Given the description of an element on the screen output the (x, y) to click on. 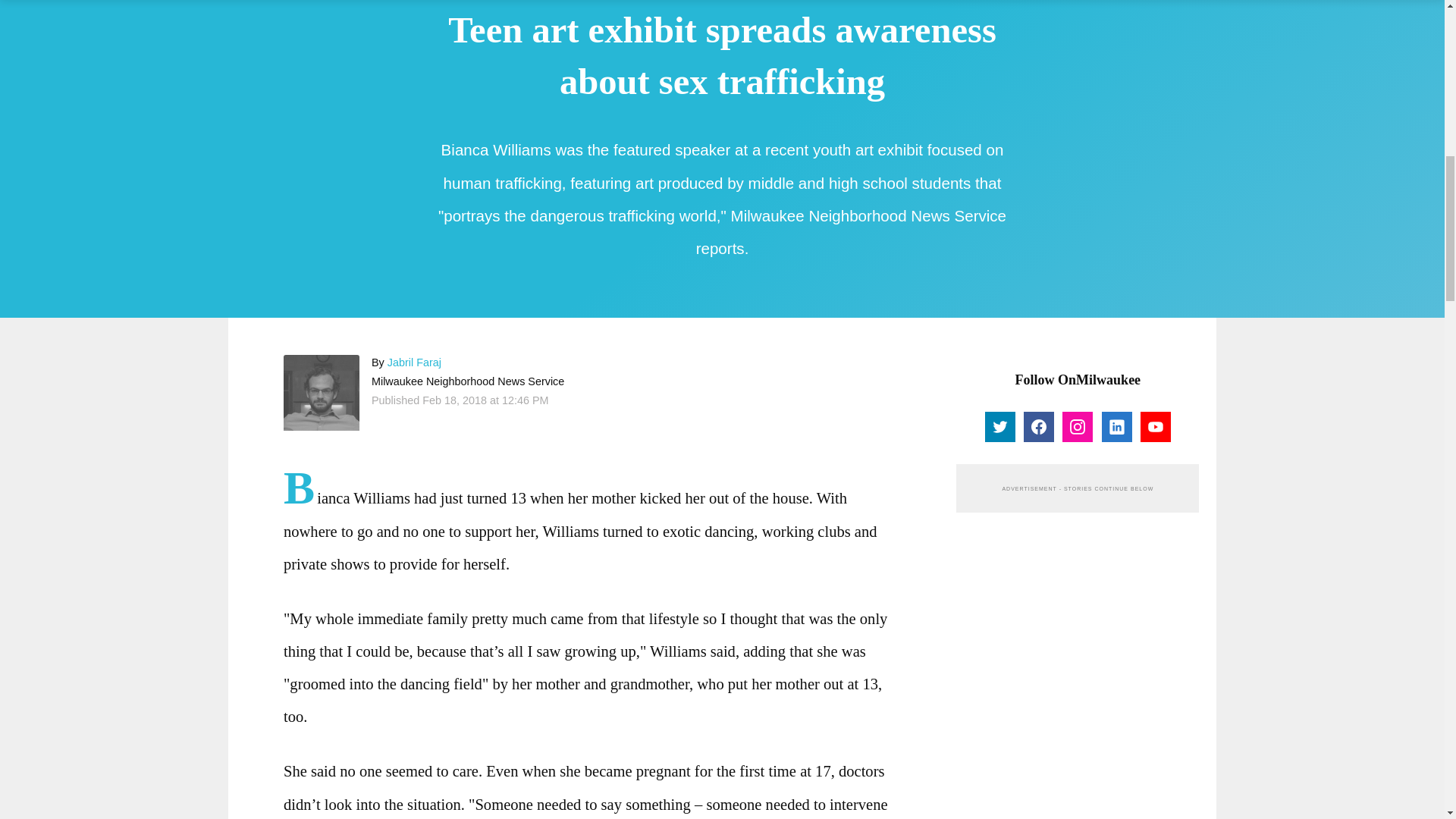
Facebook icon (1038, 426)
Linkedin icon (1116, 426)
Jabril Faraj (414, 362)
More articles by Jabril Faraj  (414, 362)
Jabril Faraj  (321, 392)
Twitter icon (999, 426)
Instagram icon (1077, 426)
YouTube icon (1155, 426)
